Given the description of an element on the screen output the (x, y) to click on. 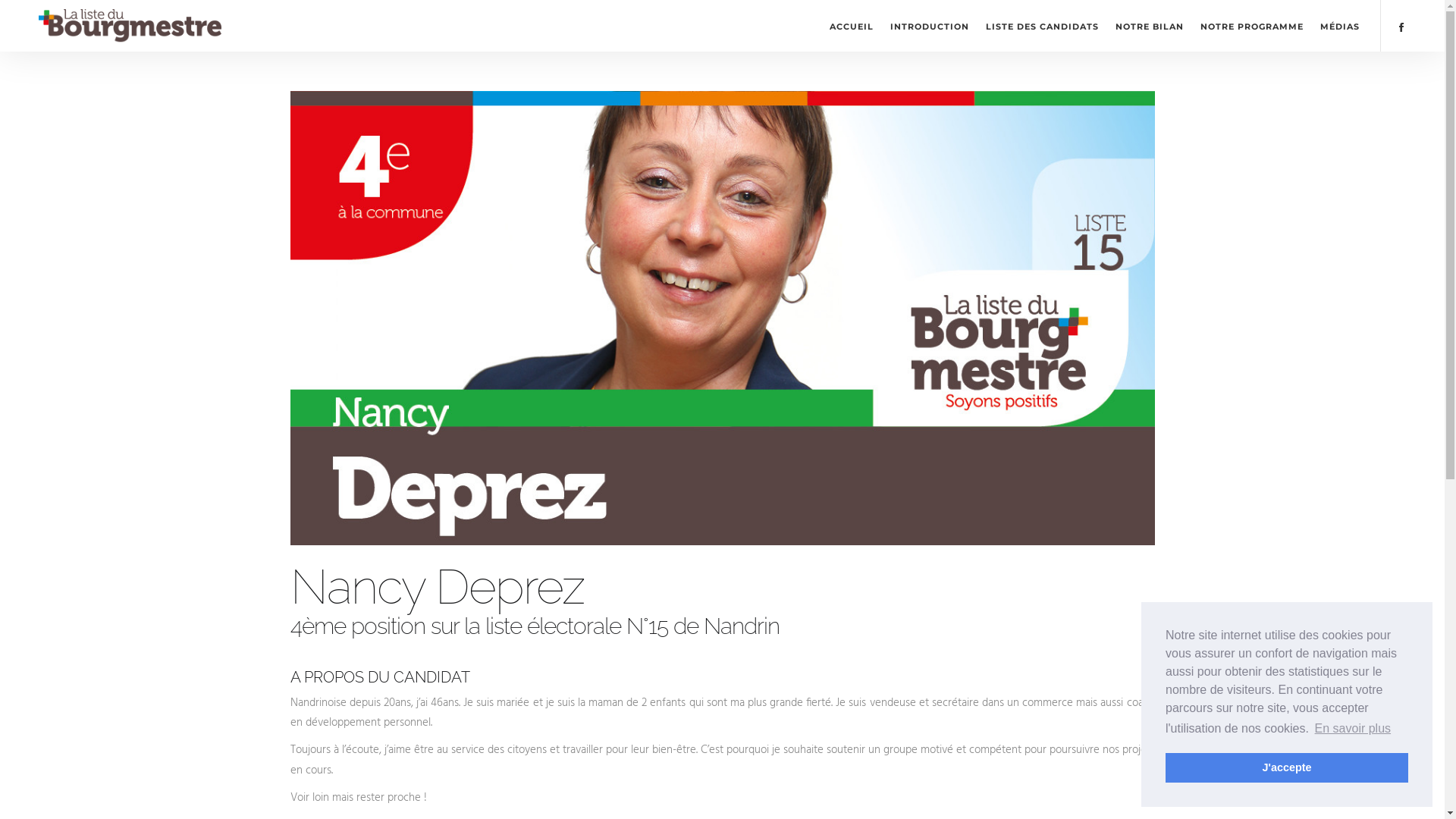
NOTRE BILAN Element type: text (1149, 25)
LISTE DES CANDIDATS Element type: text (1042, 25)
J'accepte Element type: text (1286, 767)
En savoir plus Element type: text (1352, 728)
NOTRE PROGRAMME Element type: text (1251, 25)
ACCUEIL Element type: text (851, 25)
INTRODUCTION Element type: text (929, 25)
